Given the description of an element on the screen output the (x, y) to click on. 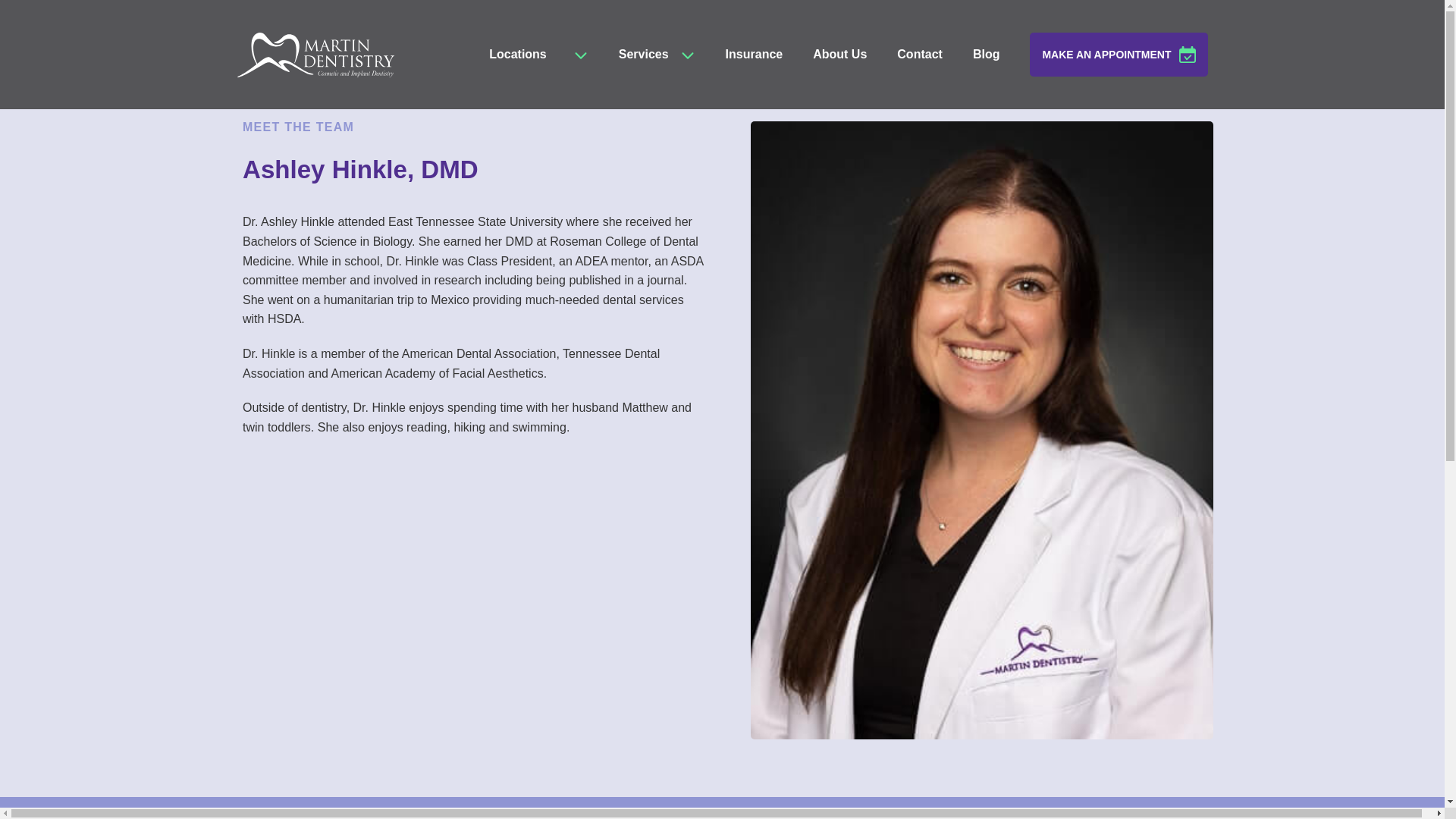
Locations (518, 54)
About Us (839, 54)
MAKE AN APPOINTMENT (1118, 54)
Blog (986, 54)
Contact (920, 54)
Insurance (753, 54)
